Given the description of an element on the screen output the (x, y) to click on. 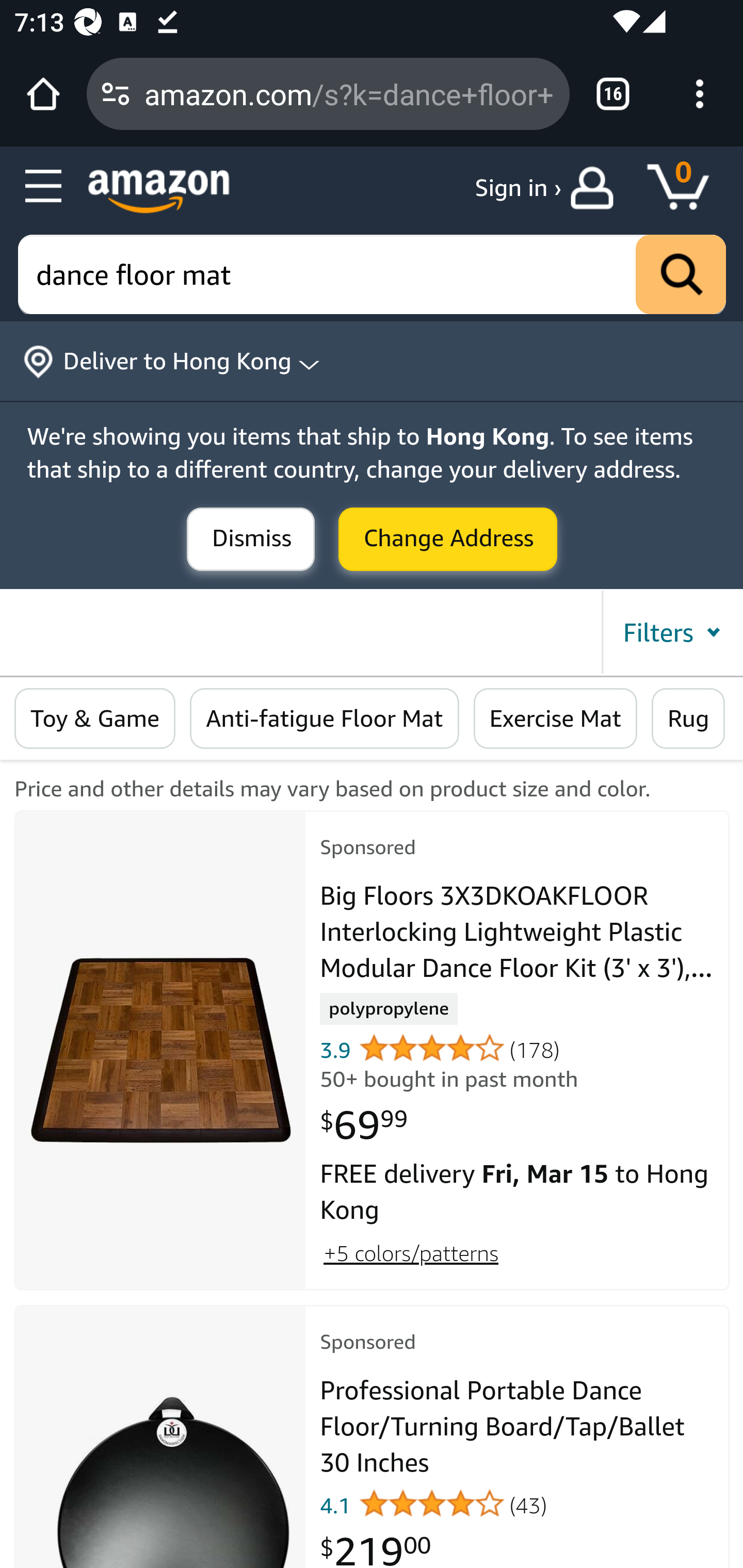
Open the home page (43, 93)
Connection is secure (115, 93)
Switch or close tabs (612, 93)
Customize and control Google Chrome (699, 93)
Open Menu (44, 187)
Sign in › (518, 188)
your account (596, 188)
Cart 0 (687, 188)
Amazon (158, 191)
dance floor mat (372, 275)
Go (681, 275)
Dismiss (250, 539)
Change Address (447, 539)
Filters (671, 632)
Toy & Game (95, 718)
Anti-fatigue Floor Mat (324, 718)
Exercise Mat (555, 718)
Rug (687, 718)
+5 colors/patterns (410, 1253)
